Given the description of an element on the screen output the (x, y) to click on. 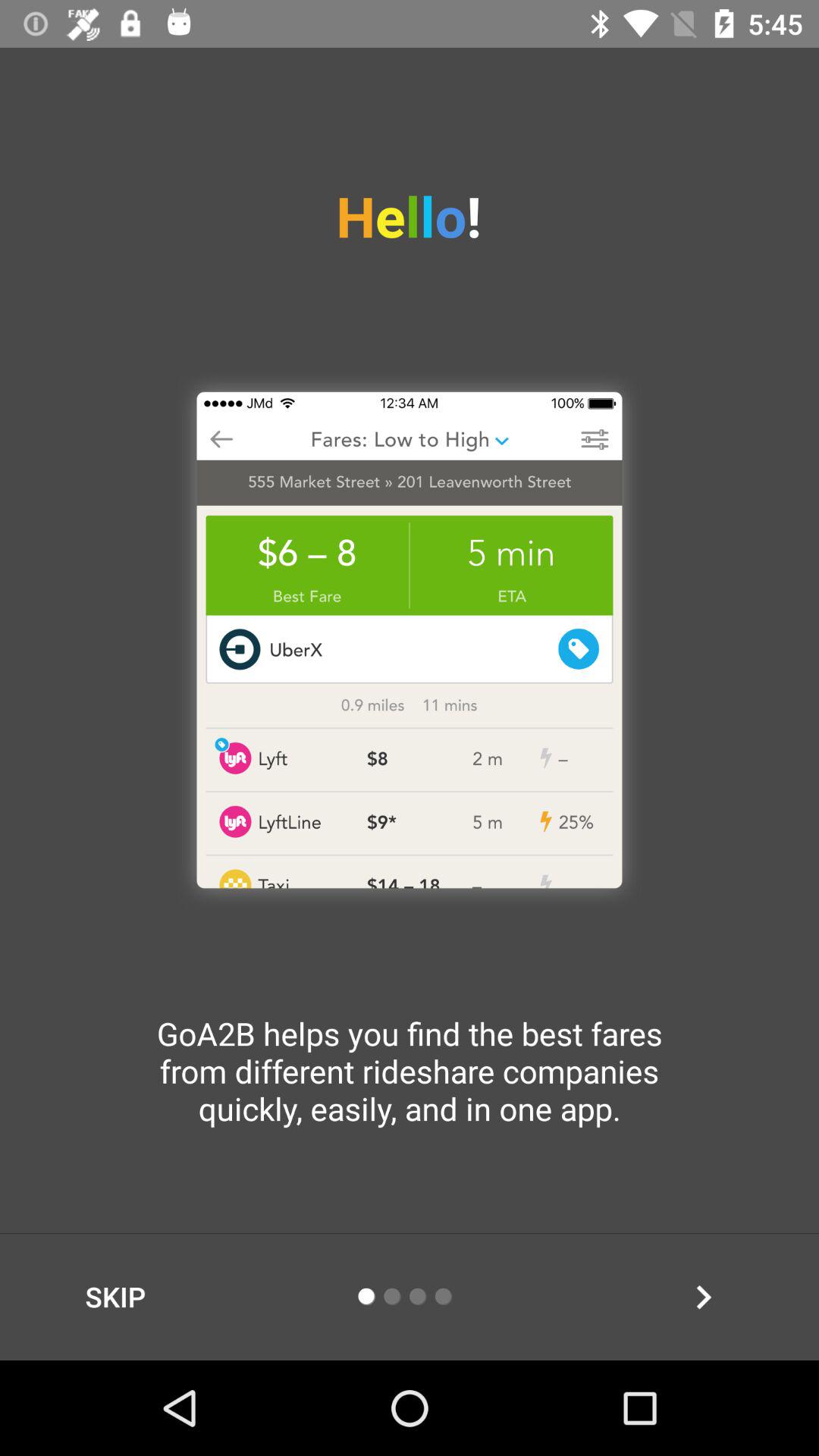
launch skip item (114, 1296)
